Given the description of an element on the screen output the (x, y) to click on. 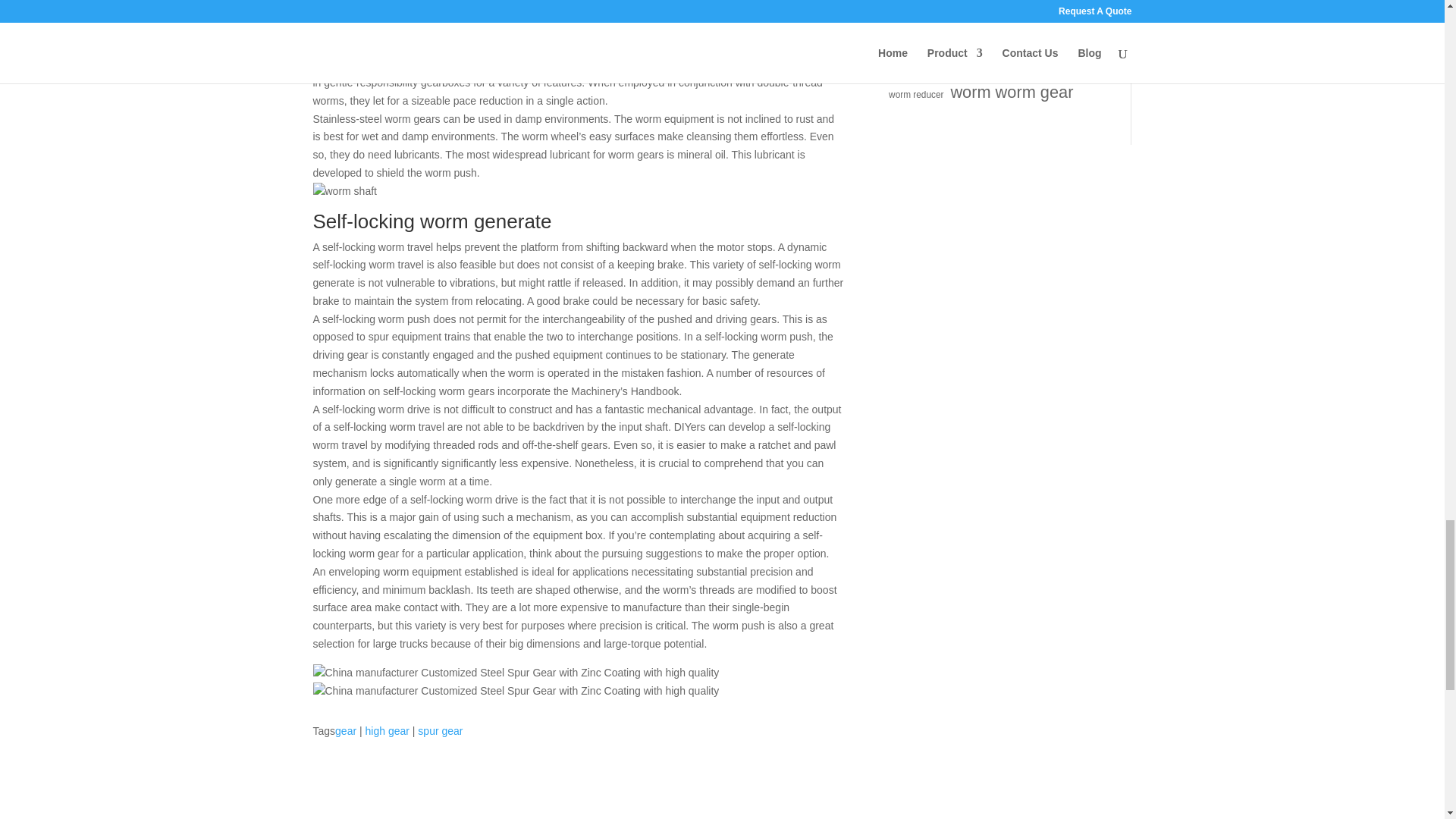
high gear (387, 730)
spur gear (440, 730)
gear (345, 730)
